Given the description of an element on the screen output the (x, y) to click on. 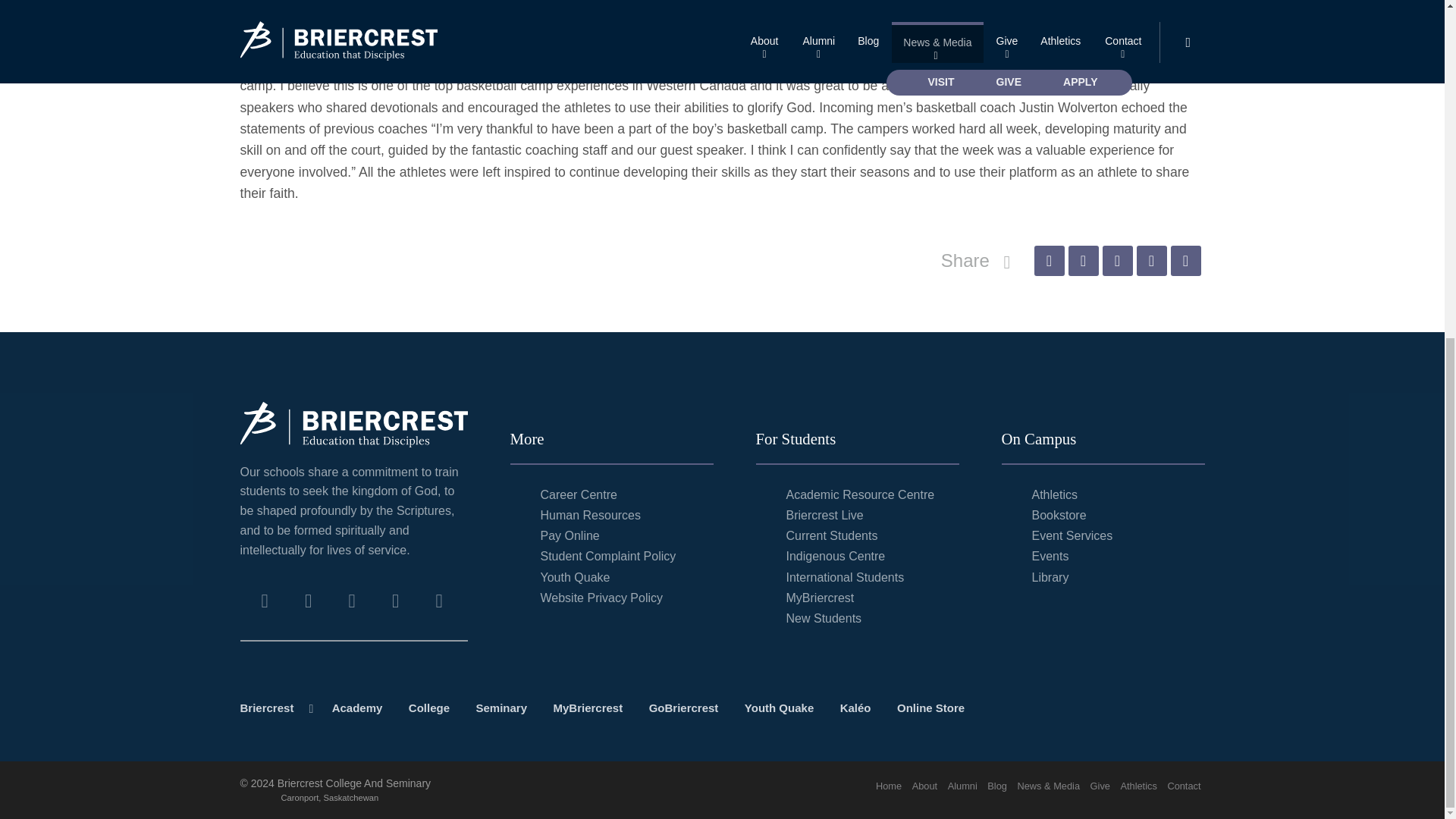
share this to LinkedIn (1150, 260)
share this to my Facebook page (1048, 260)
share this to my Twitter account (1082, 260)
share this to Pinterest (1117, 260)
